Given the description of an element on the screen output the (x, y) to click on. 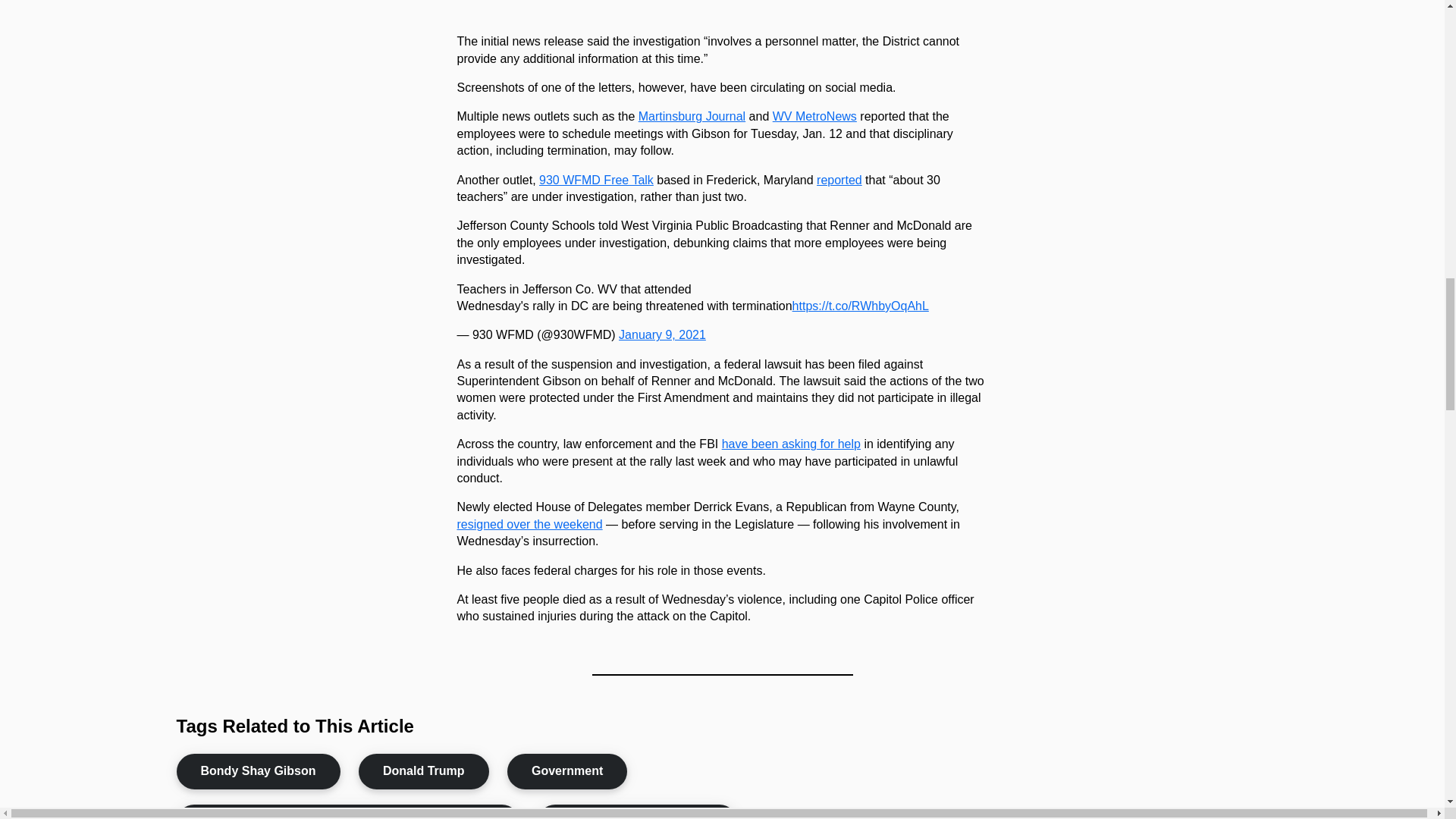
Donald Trump (423, 770)
Jefferson County Schools (636, 811)
Government (566, 770)
Jefferson County Republican Executive Committee (347, 811)
Bondy Shay Gibson (257, 770)
